Given the description of an element on the screen output the (x, y) to click on. 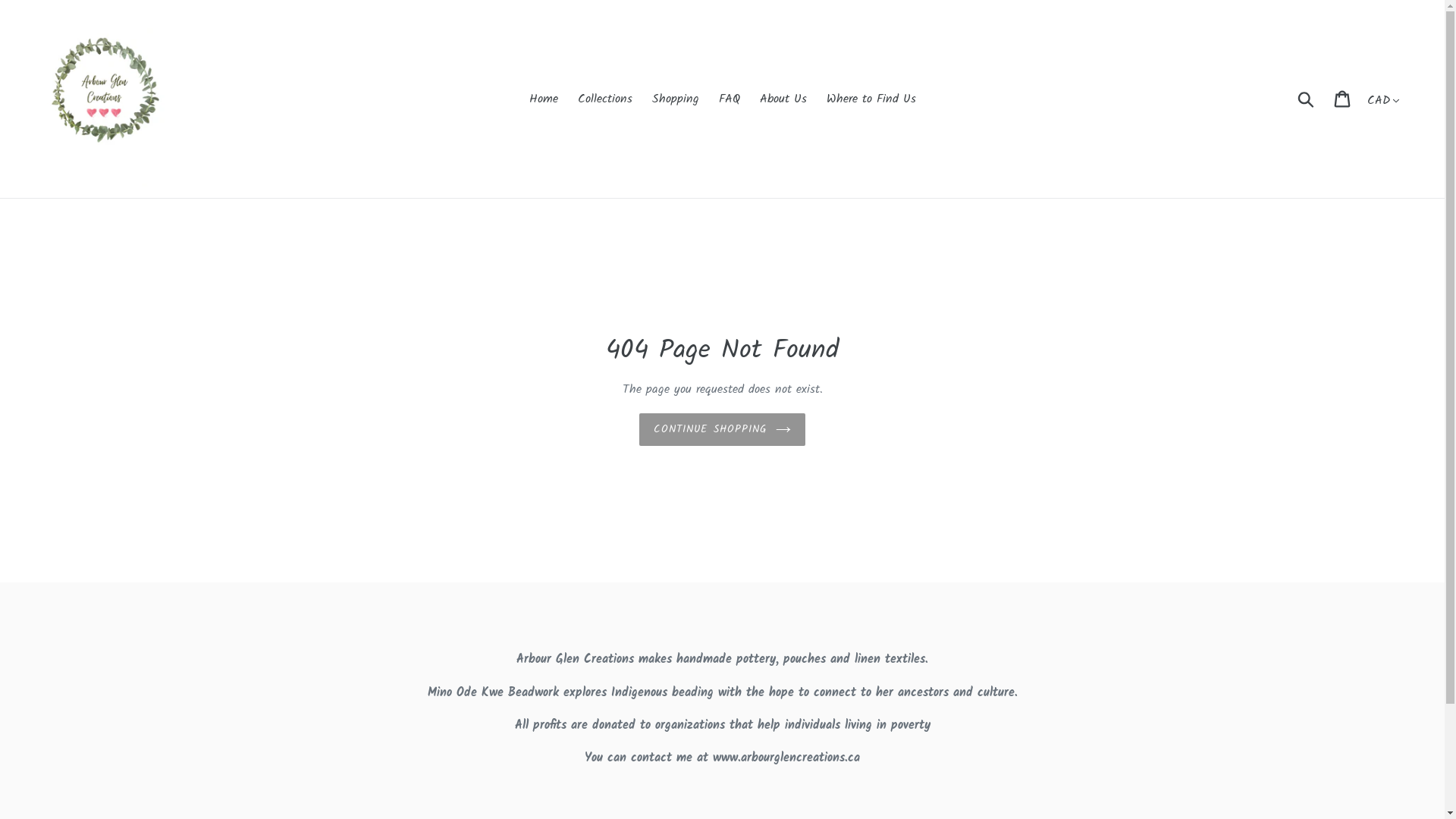
About Us Element type: text (783, 98)
Collections Element type: text (605, 98)
Cart Element type: text (1343, 98)
CONTINUE SHOPPING Element type: text (721, 429)
Submit Element type: text (1306, 98)
Home Element type: text (543, 98)
Shopping Element type: text (675, 98)
Where to Find Us Element type: text (871, 98)
FAQ Element type: text (729, 98)
